Given the description of an element on the screen output the (x, y) to click on. 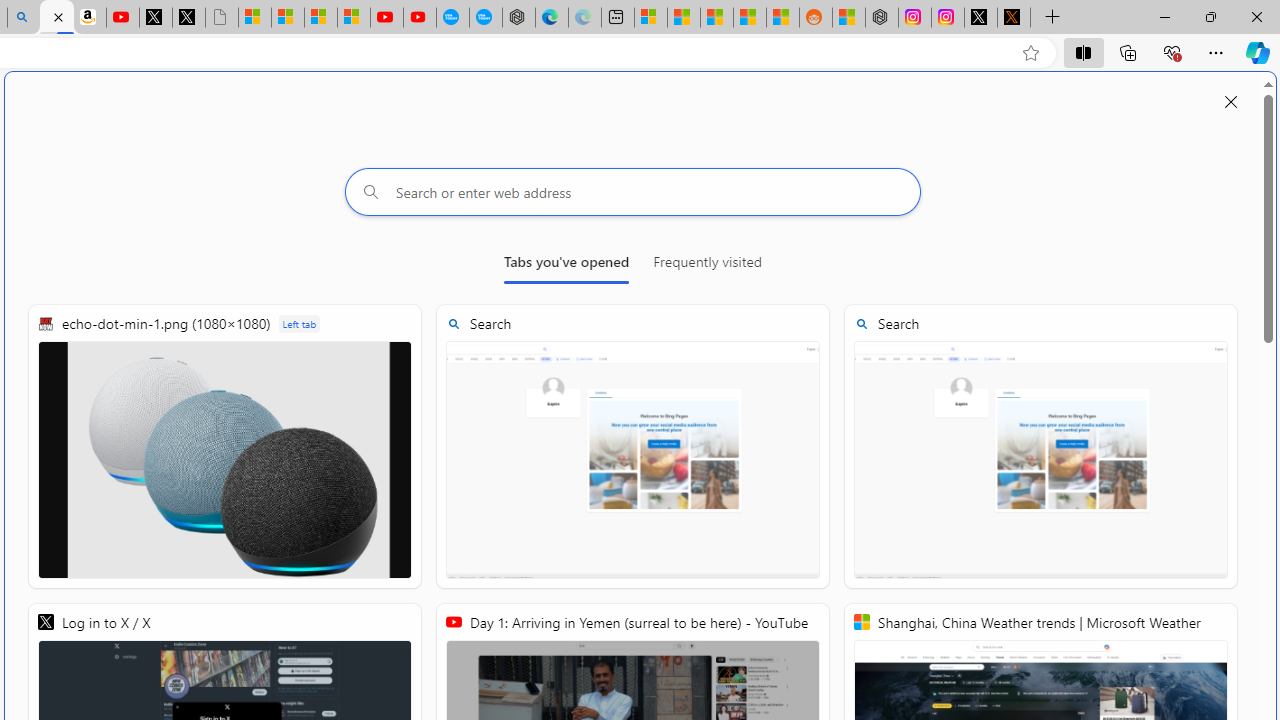
Settings and more (Alt+F) (1215, 52)
Gloom - YouTube (387, 17)
Shanghai, China Weather trends | Microsoft Weather (782, 17)
X (188, 17)
Search or enter web address (633, 191)
Tabs you've opened (566, 265)
New tab (617, 17)
YouTube Kids - An App Created for Kids to Explore Content (420, 17)
New split screen (56, 17)
The most popular Google 'how to' searches (485, 17)
